Given the description of an element on the screen output the (x, y) to click on. 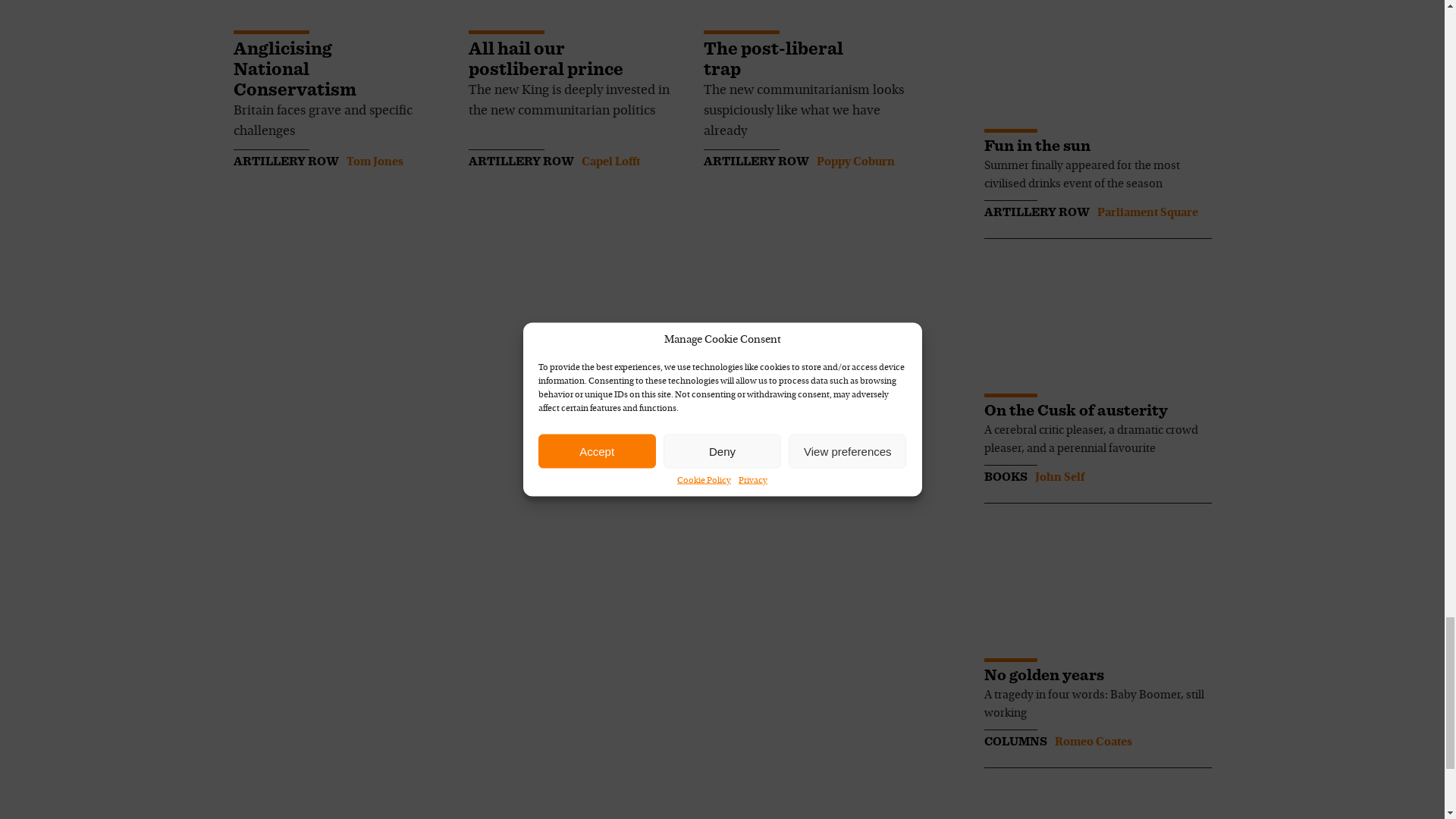
Posts by Tom Jones (374, 162)
Posts by Parliament Square (1146, 213)
Posts by Romeo Coates (1092, 742)
Posts by Capel Lofft (609, 162)
Posts by Poppy Coburn (854, 162)
Posts by John Self (1058, 477)
